Given the description of an element on the screen output the (x, y) to click on. 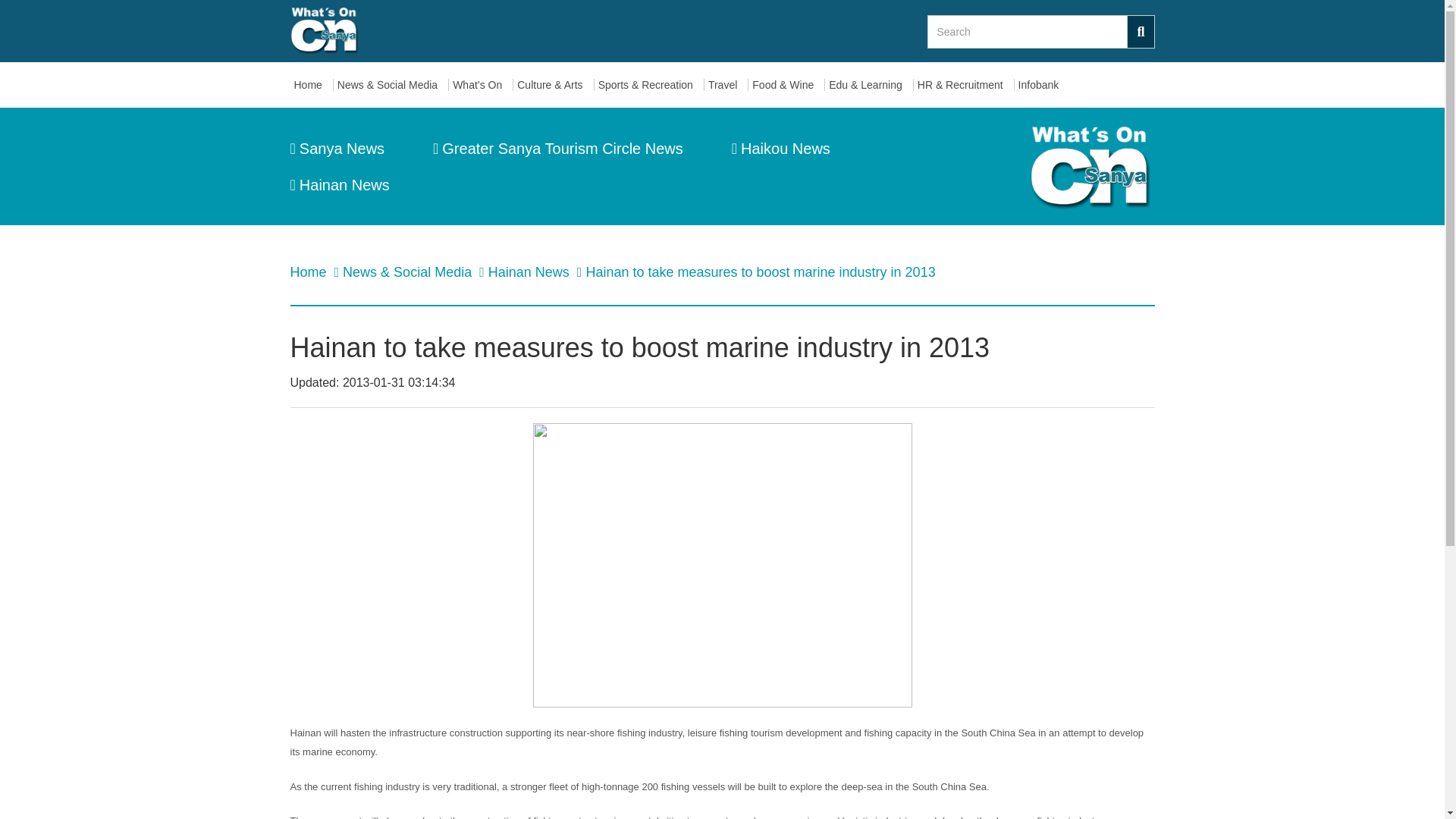
Hainan News (338, 184)
Haikou News (780, 148)
Travel (726, 84)
Home (309, 272)
Sanya News (336, 148)
Hainan News (530, 272)
Infobank (1042, 84)
Home (311, 84)
Greater Sanya Tourism Circle News (557, 148)
